Given the description of an element on the screen output the (x, y) to click on. 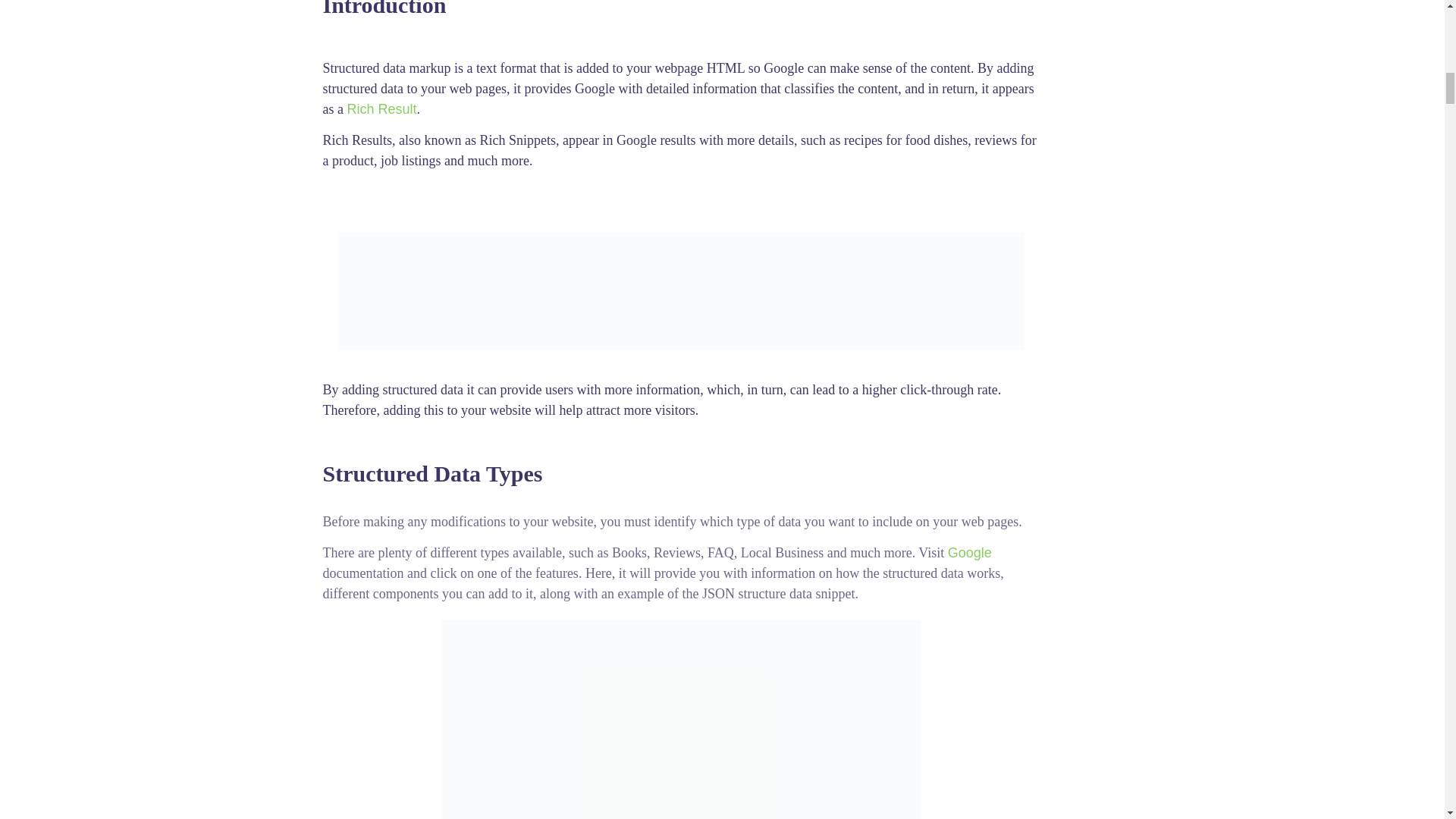
Rich Snippets (682, 290)
Rich Result (381, 109)
JSON (681, 719)
Google (969, 552)
